Given the description of an element on the screen output the (x, y) to click on. 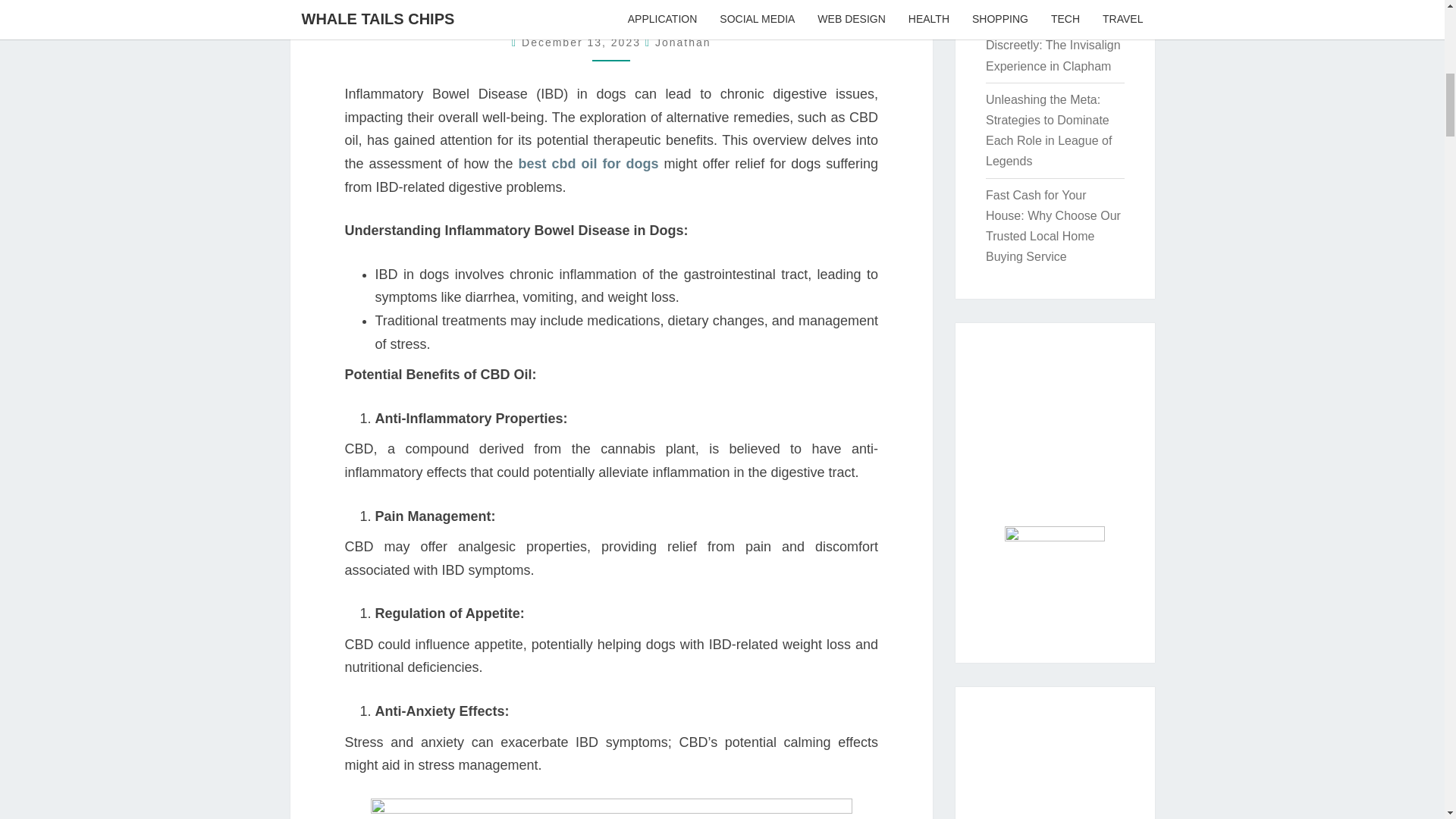
View all posts by Jonathan (683, 42)
December 13, 2023 (583, 42)
Jonathan (683, 42)
best cbd oil for dogs (588, 163)
9:33 am (583, 42)
